Given the description of an element on the screen output the (x, y) to click on. 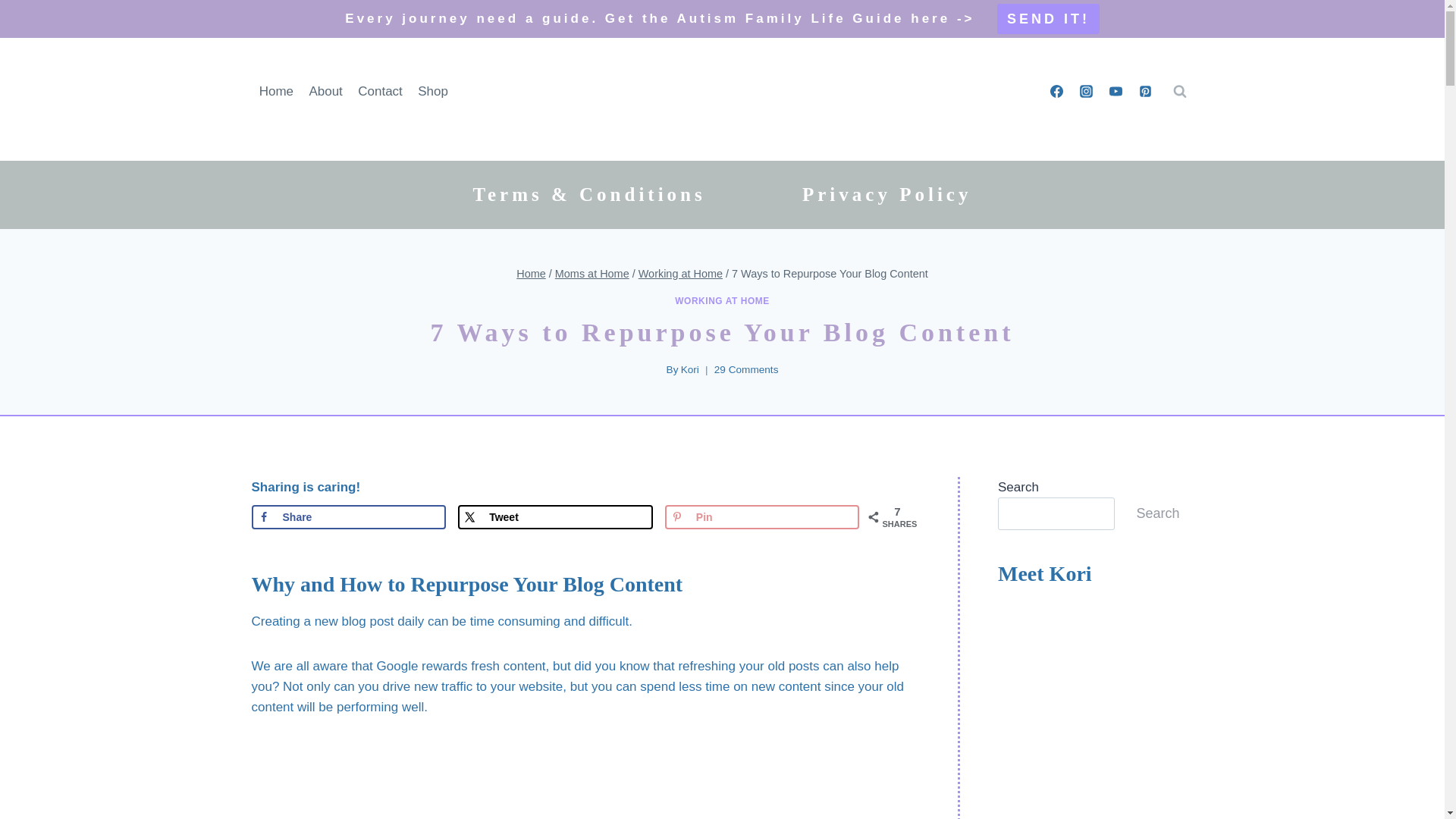
Tweet (555, 517)
Working at Home (680, 273)
Home (531, 273)
SEND IT! (1048, 19)
Pin (762, 517)
29 Comments (746, 369)
Kori (689, 369)
Shop (432, 91)
Home (276, 91)
Save to Pinterest (762, 517)
Moms at Home (591, 273)
Contact (380, 91)
About (325, 91)
Share on X (555, 517)
WORKING AT HOME (722, 300)
